Given the description of an element on the screen output the (x, y) to click on. 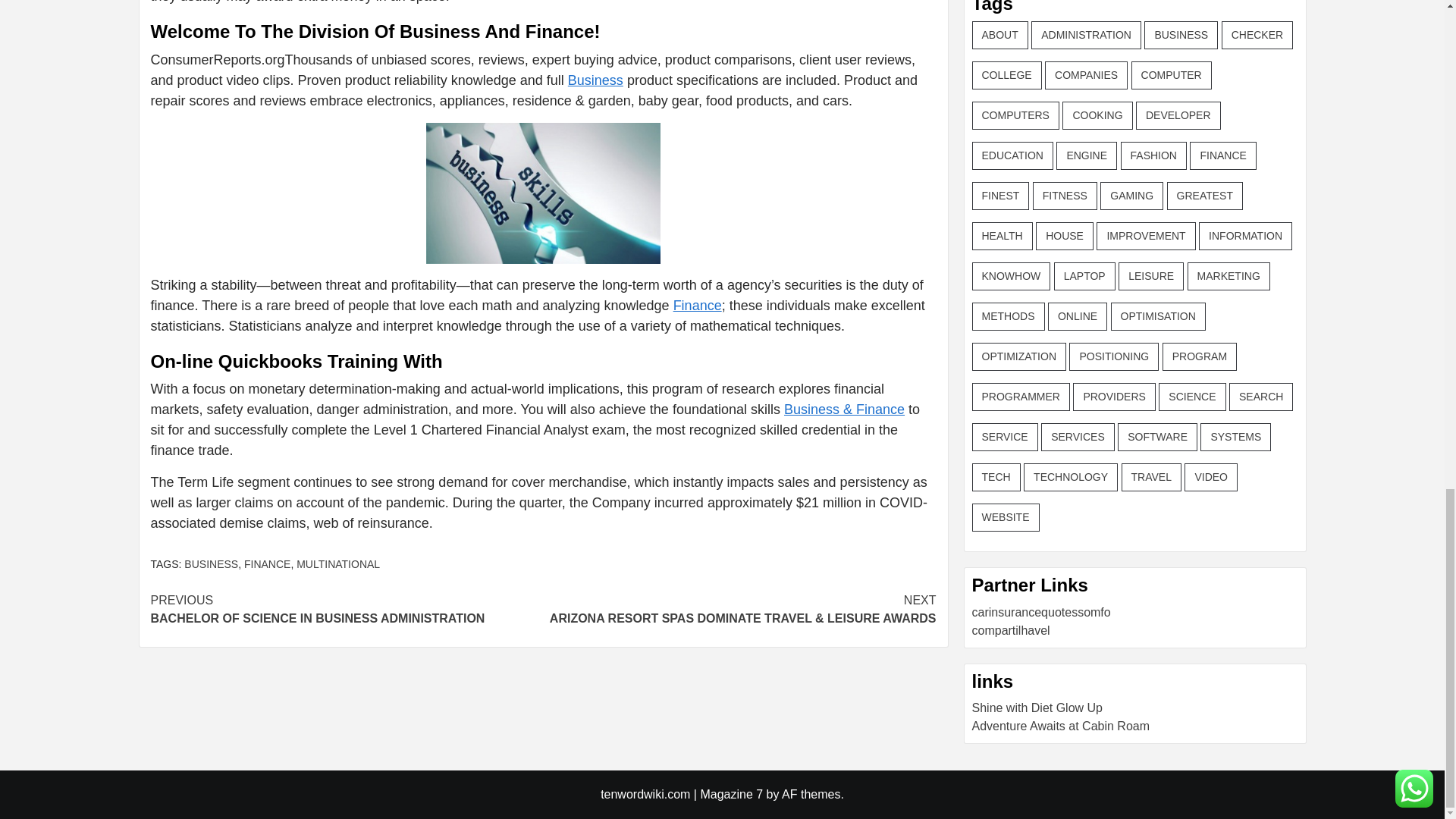
BUSINESS (211, 563)
Business (595, 79)
ABOUT (999, 35)
Finance (346, 609)
MULTINATIONAL (697, 305)
FINANCE (338, 563)
